Given the description of an element on the screen output the (x, y) to click on. 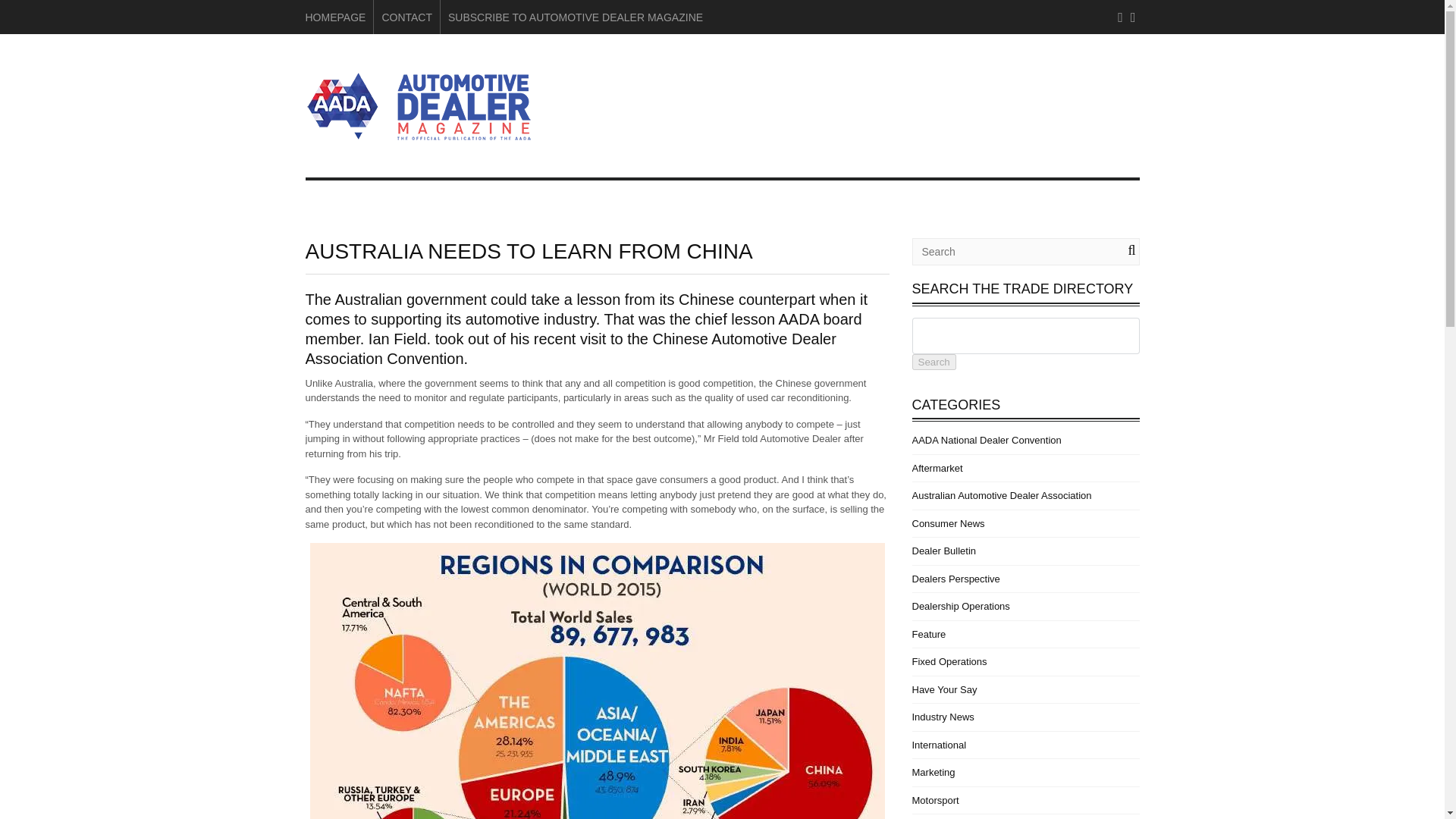
Search (933, 361)
Dealer Bulletin (943, 550)
CONTACT (406, 17)
Consumer News (947, 523)
Dealers Perspective (954, 578)
Have Your Say (943, 689)
AADA National Dealer Convention (986, 439)
Aftermarket (936, 468)
Marketing (933, 772)
Search (933, 361)
